Given the description of an element on the screen output the (x, y) to click on. 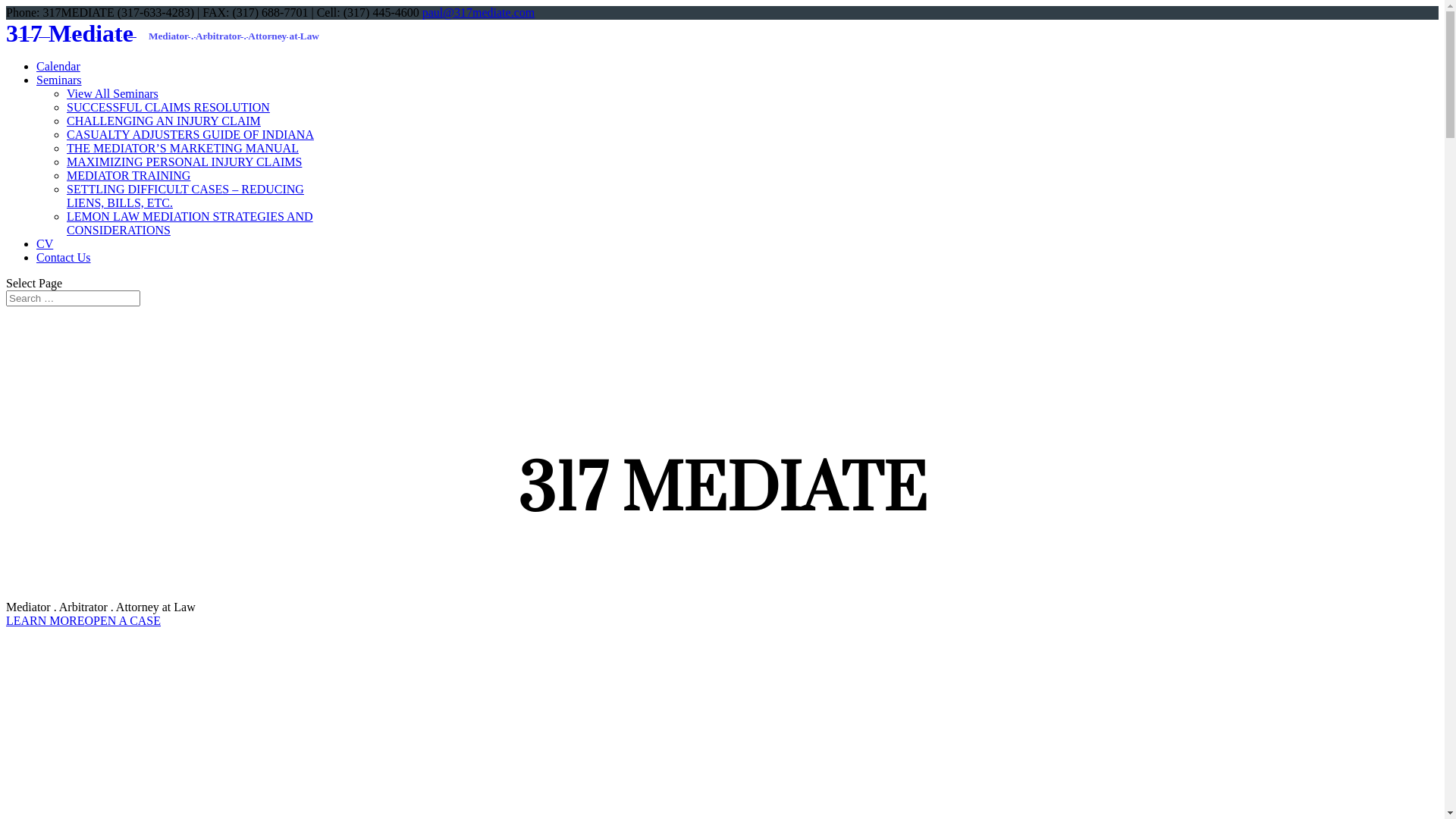
MAXIMIZING PERSONAL INJURY CLAIMS Element type: text (183, 161)
paul@317mediate.com Element type: text (478, 12)
Seminars Element type: text (58, 79)
View All Seminars Element type: text (112, 93)
CASUALTY ADJUSTERS GUIDE OF INDIANA Element type: text (189, 134)
317 Mediate Mediator . Arbitrator . Attorney at Law Element type: text (162, 31)
MEDIATOR TRAINING Element type: text (128, 175)
LEARN MORE Element type: text (45, 620)
SUCCESSFUL CLAIMS RESOLUTION Element type: text (167, 106)
OPEN A CASE Element type: text (122, 620)
CV Element type: text (44, 243)
Search for: Element type: hover (73, 298)
Contact Us Element type: text (63, 257)
CHALLENGING AN INJURY CLAIM Element type: text (163, 120)
Calendar Element type: text (58, 65)
LEMON LAW MEDIATION STRATEGIES AND CONSIDERATIONS Element type: text (189, 223)
